Given the description of an element on the screen output the (x, y) to click on. 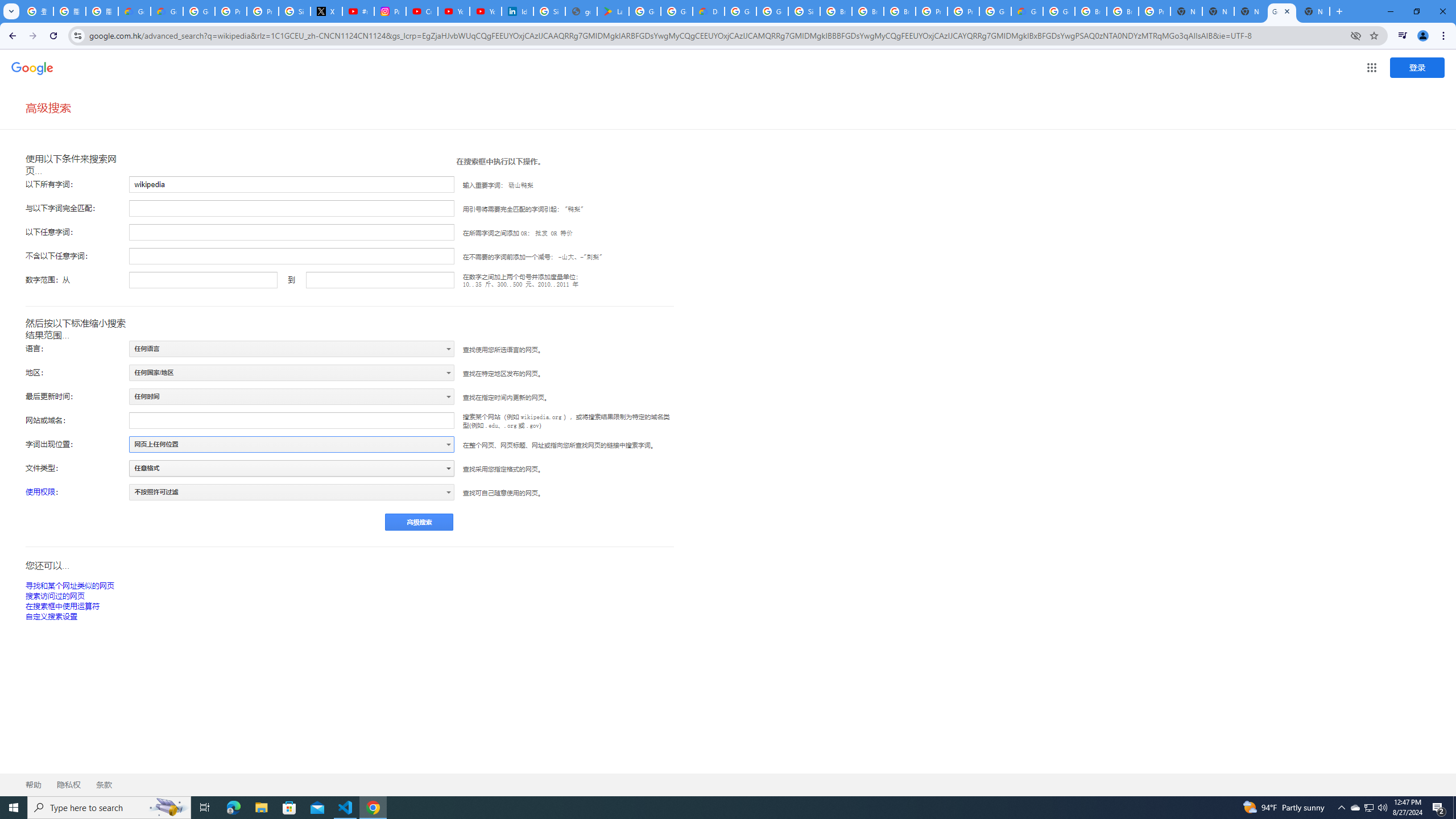
Browse Chrome as a guest - Computer - Google Chrome Help (1091, 11)
X (326, 11)
Google Cloud Platform (995, 11)
Google Cloud Platform (1059, 11)
